Given the description of an element on the screen output the (x, y) to click on. 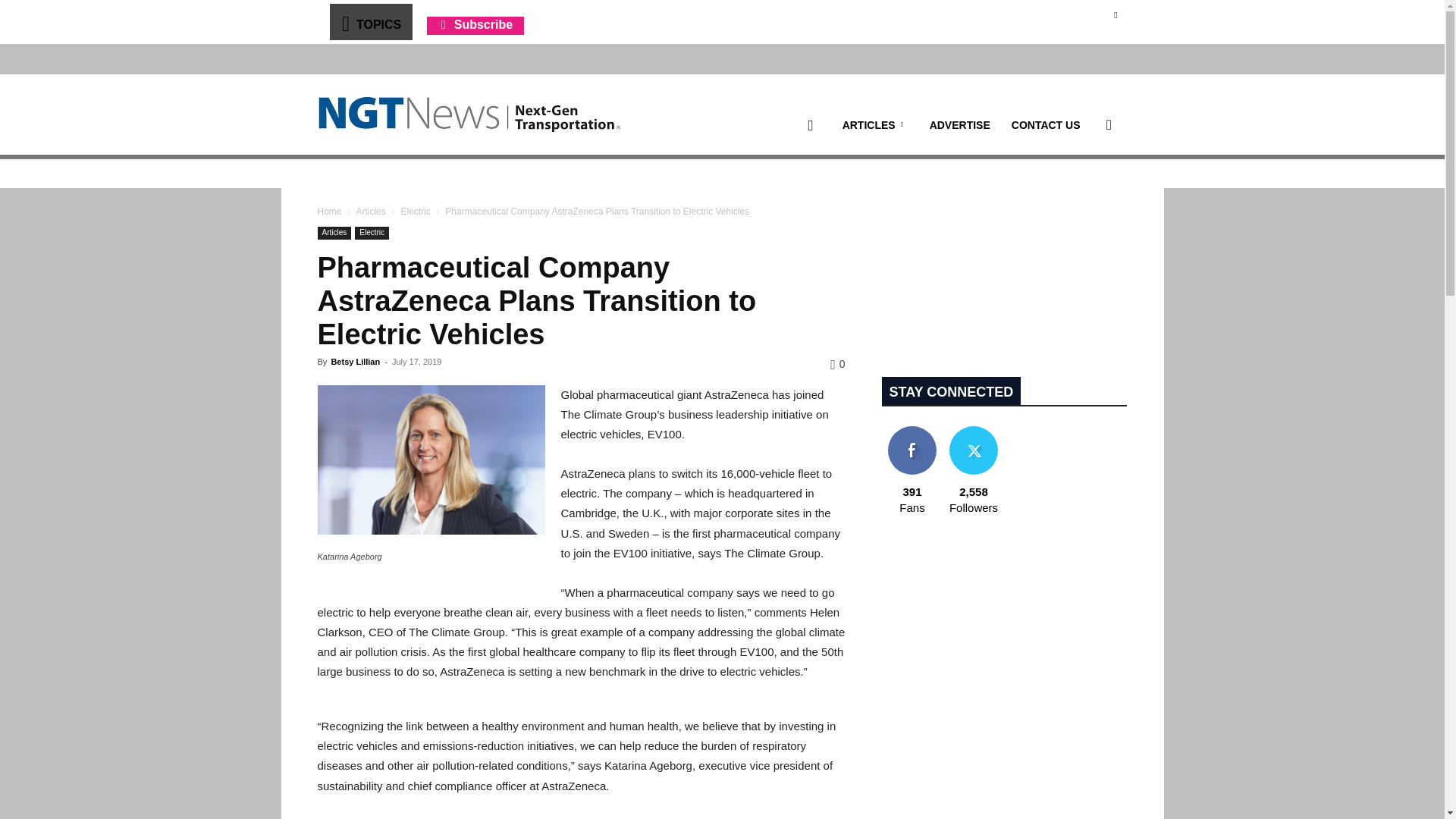
Twitter (1114, 14)
ARTICLES (874, 124)
NGT News (468, 114)
Search (1085, 197)
Subscribe (475, 24)
Alternative Fuel News, CNG News (468, 114)
TOPICS (370, 22)
